Given the description of an element on the screen output the (x, y) to click on. 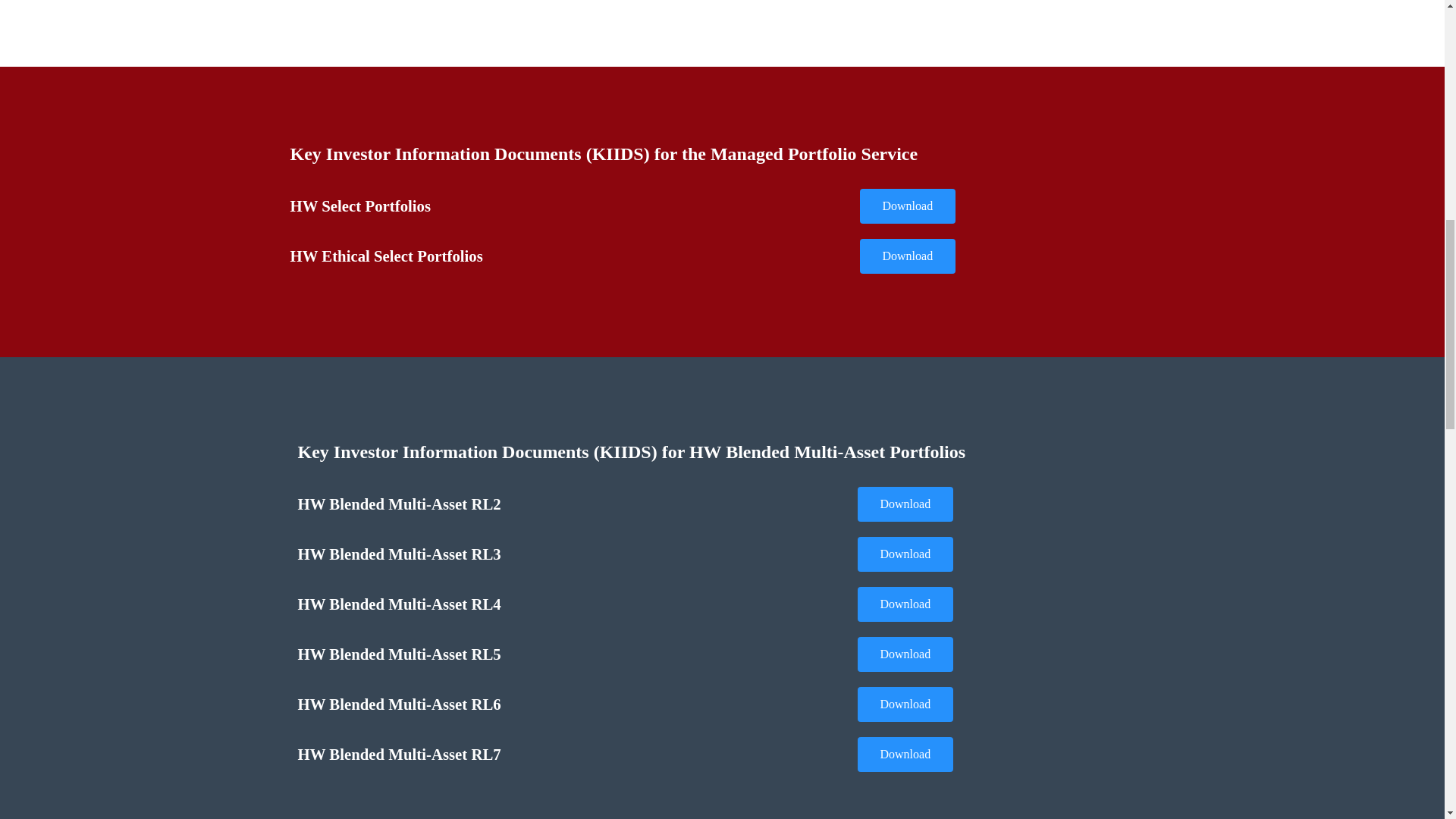
Download (905, 554)
Download (908, 256)
Download (908, 206)
Download (905, 604)
Download (905, 704)
Download (905, 503)
Download (905, 754)
Download (905, 654)
